Given the description of an element on the screen output the (x, y) to click on. 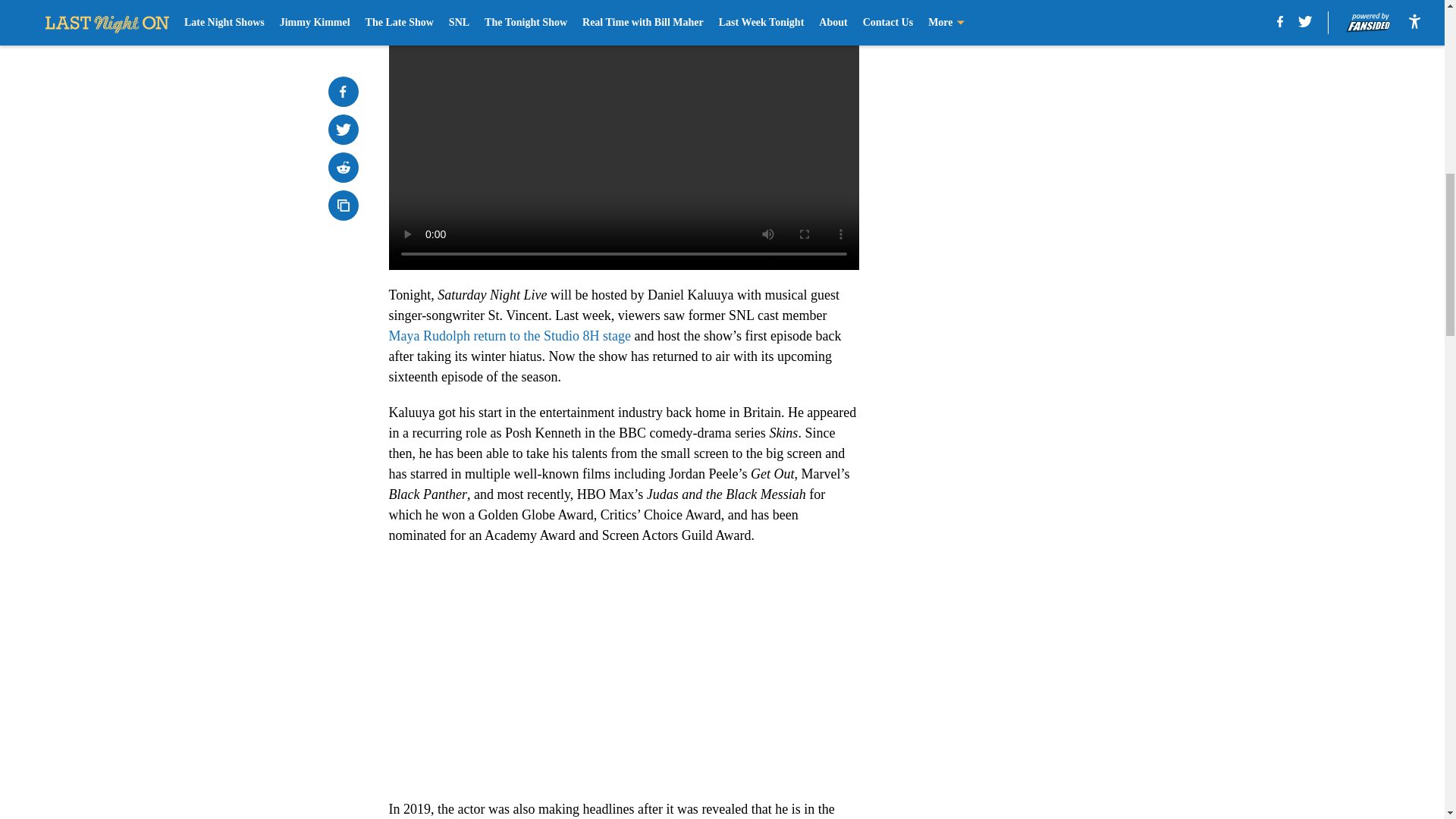
Maya Rudolph return to the Studio 8H stage (509, 335)
3rd party ad content (1047, 100)
3rd party ad content (1047, 320)
